Given the description of an element on the screen output the (x, y) to click on. 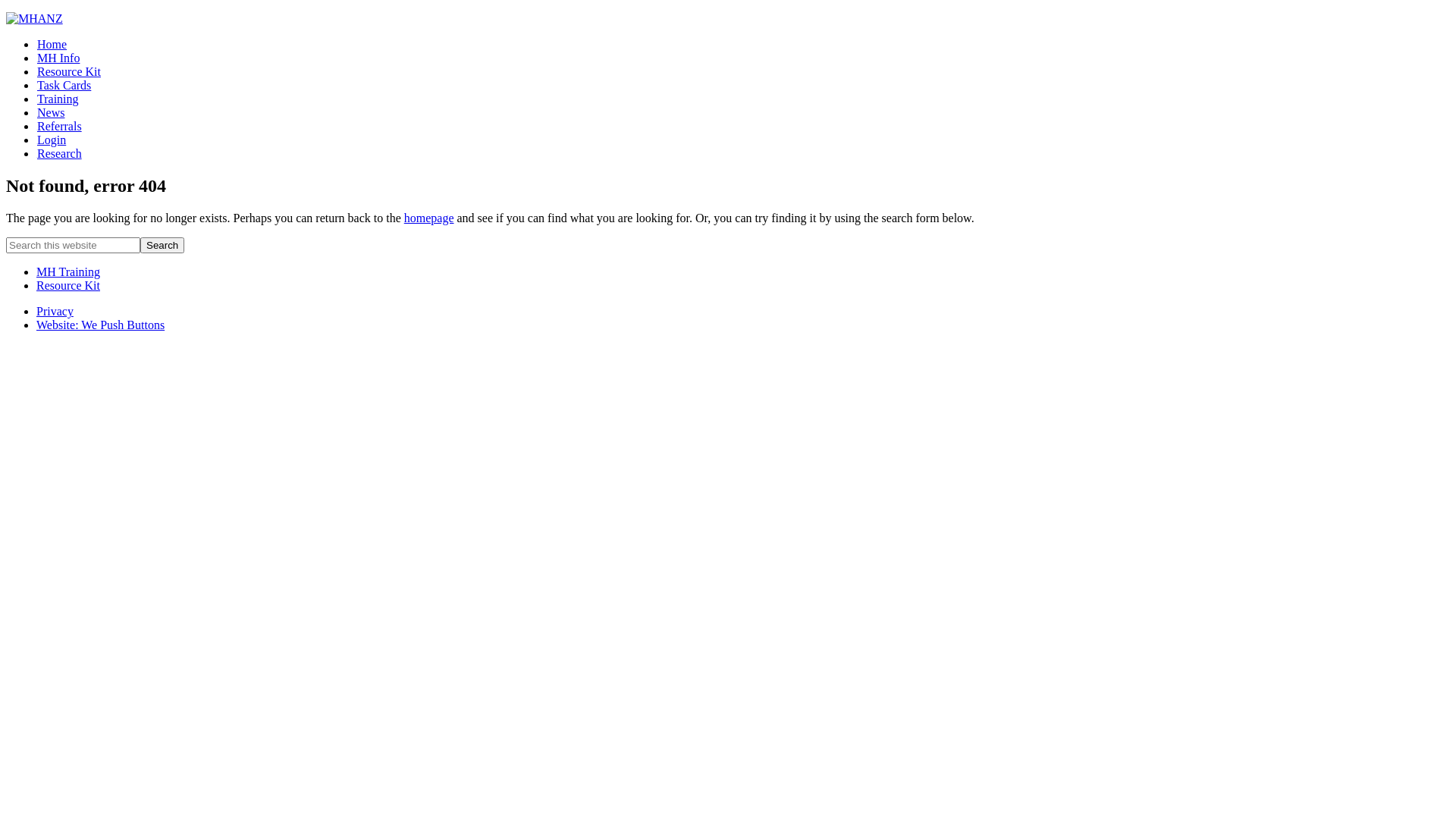
Resource Kit Element type: text (68, 71)
Referrals Element type: text (58, 125)
Training Element type: text (57, 98)
MH Info Element type: text (57, 57)
Login Element type: text (50, 139)
Resource Kit Element type: text (68, 285)
Task Cards Element type: text (63, 84)
Search Element type: text (162, 245)
News Element type: text (50, 112)
Home Element type: text (51, 43)
homepage Element type: text (429, 217)
Privacy Element type: text (54, 310)
MH Training Element type: text (68, 271)
Research Element type: text (58, 153)
Website: We Push Buttons Element type: text (100, 324)
